Given the description of an element on the screen output the (x, y) to click on. 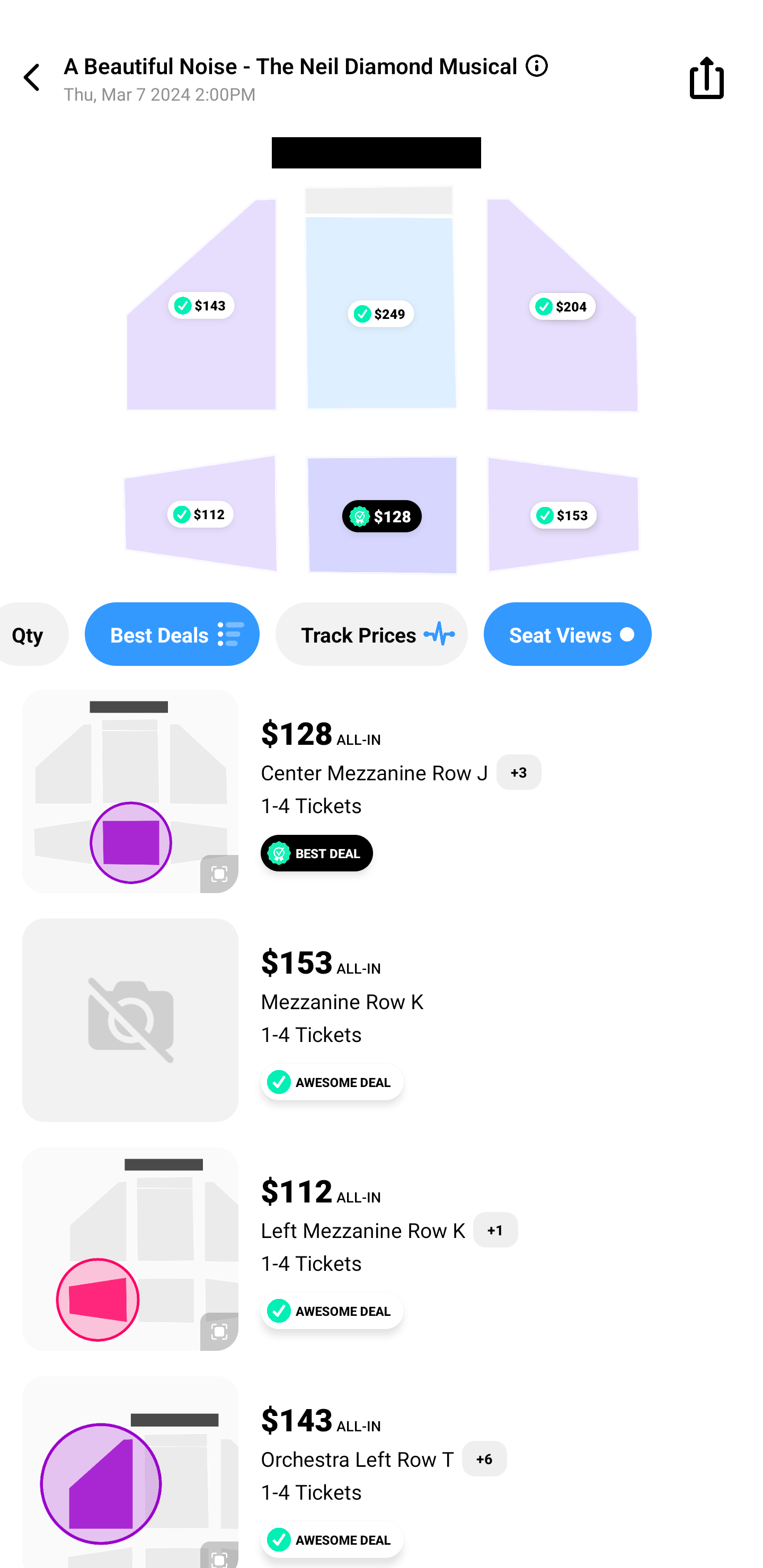
$249 (380, 313)
Qty (34, 634)
Best Deals (171, 634)
Track Prices (371, 634)
Seat Views (567, 634)
+3 (518, 772)
BEST DEAL (316, 852)
AWESOME DEAL (331, 1081)
+1 (495, 1230)
AWESOME DEAL (331, 1310)
+6 (484, 1458)
AWESOME DEAL (331, 1539)
